Given the description of an element on the screen output the (x, y) to click on. 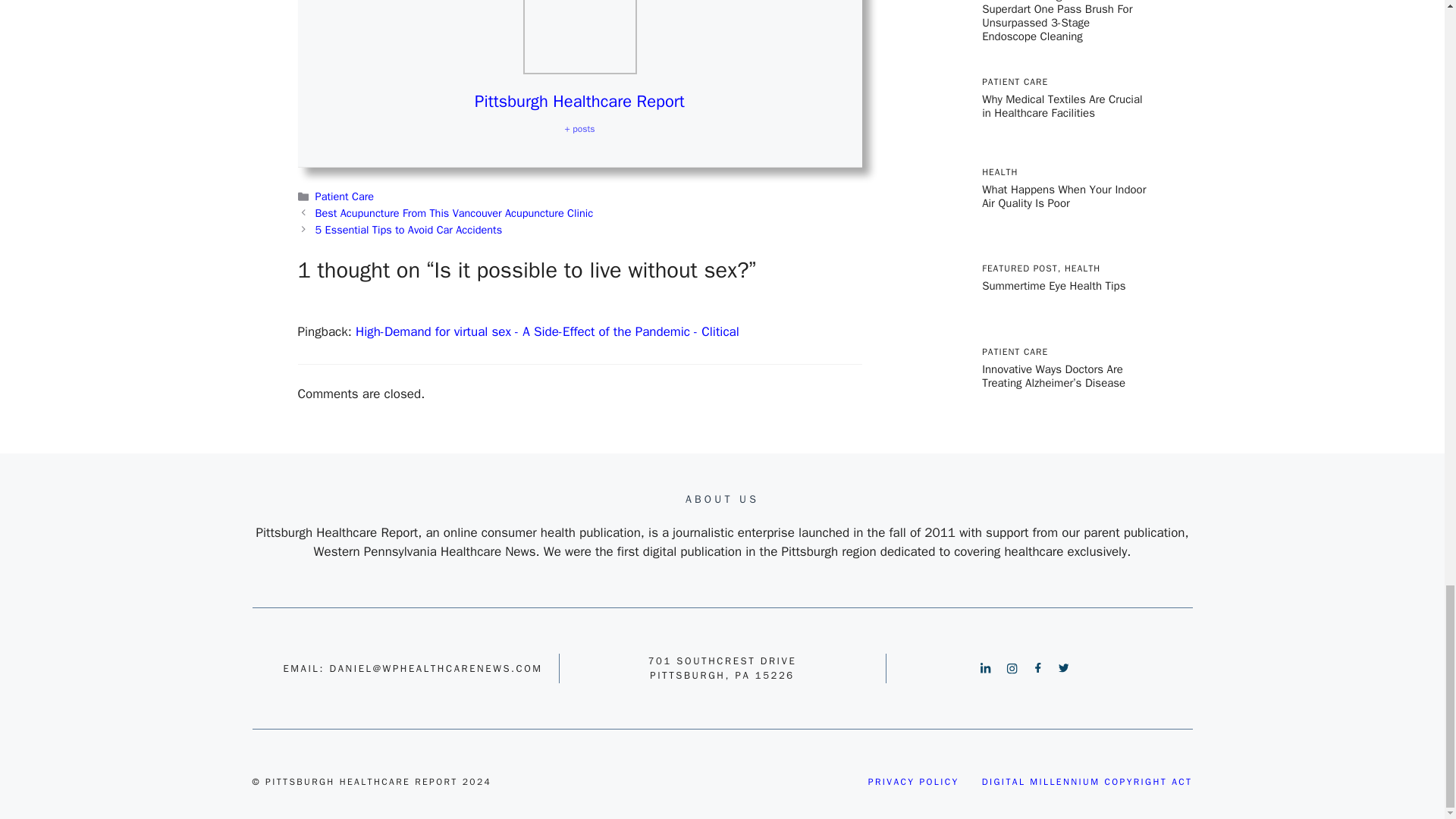
Patient Care (344, 196)
5 Essential Tips to Avoid Car Accidents (408, 229)
Is it possible to live without sex? 3 (579, 37)
Best Acupuncture From This Vancouver Acupuncture Clinic (453, 213)
Pittsburgh Healthcare Report (579, 101)
